Given the description of an element on the screen output the (x, y) to click on. 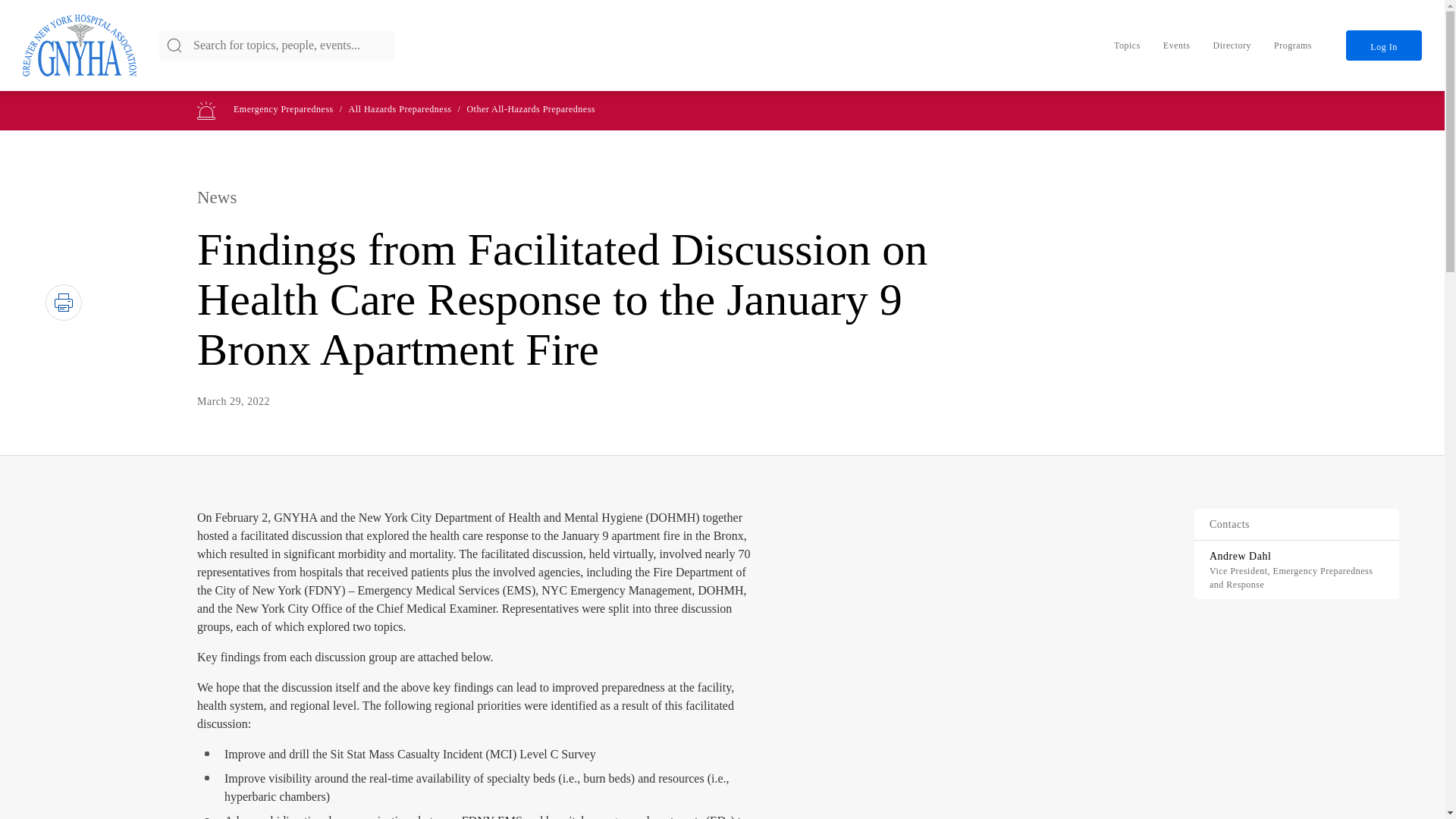
Directory (1231, 45)
Programs (1292, 45)
Greater New York Hospital Association (79, 45)
Log In (1383, 45)
Events (1177, 45)
All Hazards Preparedness (400, 109)
Topics (1126, 45)
Emergency Preparedness (282, 109)
Other All-Hazards Preparedness (530, 109)
